Given the description of an element on the screen output the (x, y) to click on. 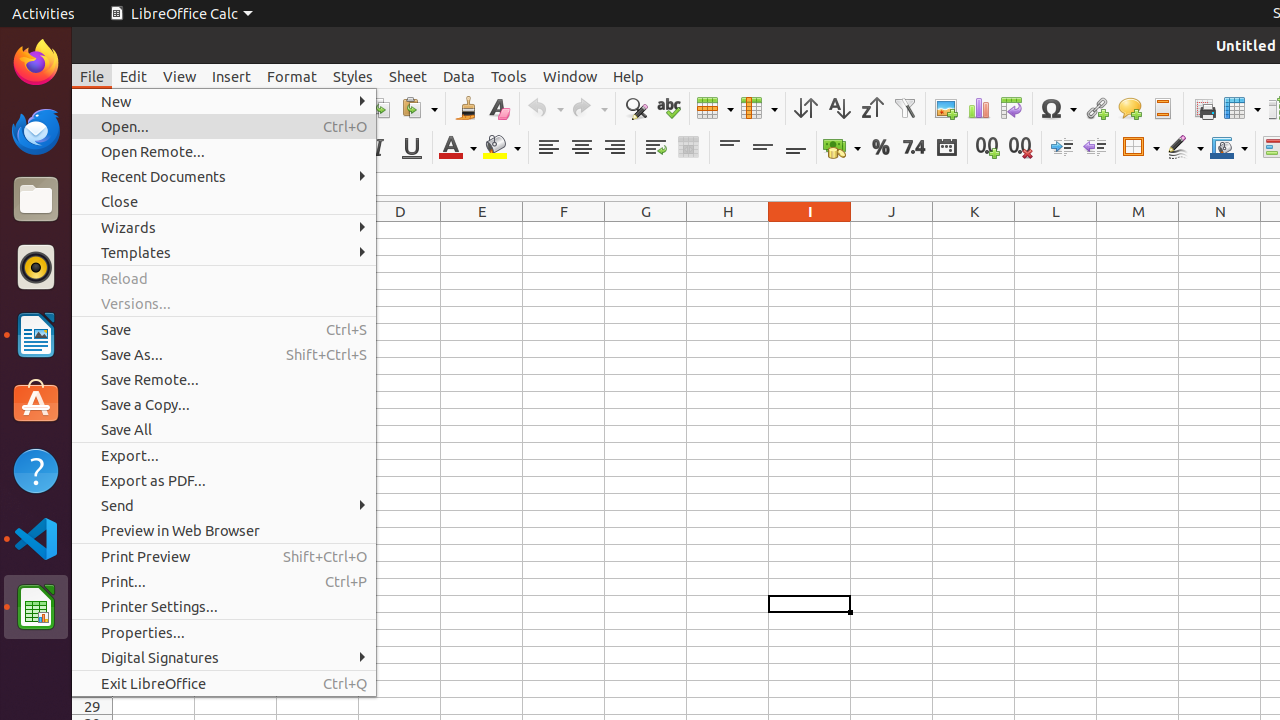
Font Color Element type: push-button (458, 147)
Headers and Footers Element type: push-button (1162, 108)
Properties... Element type: menu-item (224, 632)
Open Remote... Element type: menu-item (224, 151)
Border Color Element type: push-button (1229, 147)
